Given the description of an element on the screen output the (x, y) to click on. 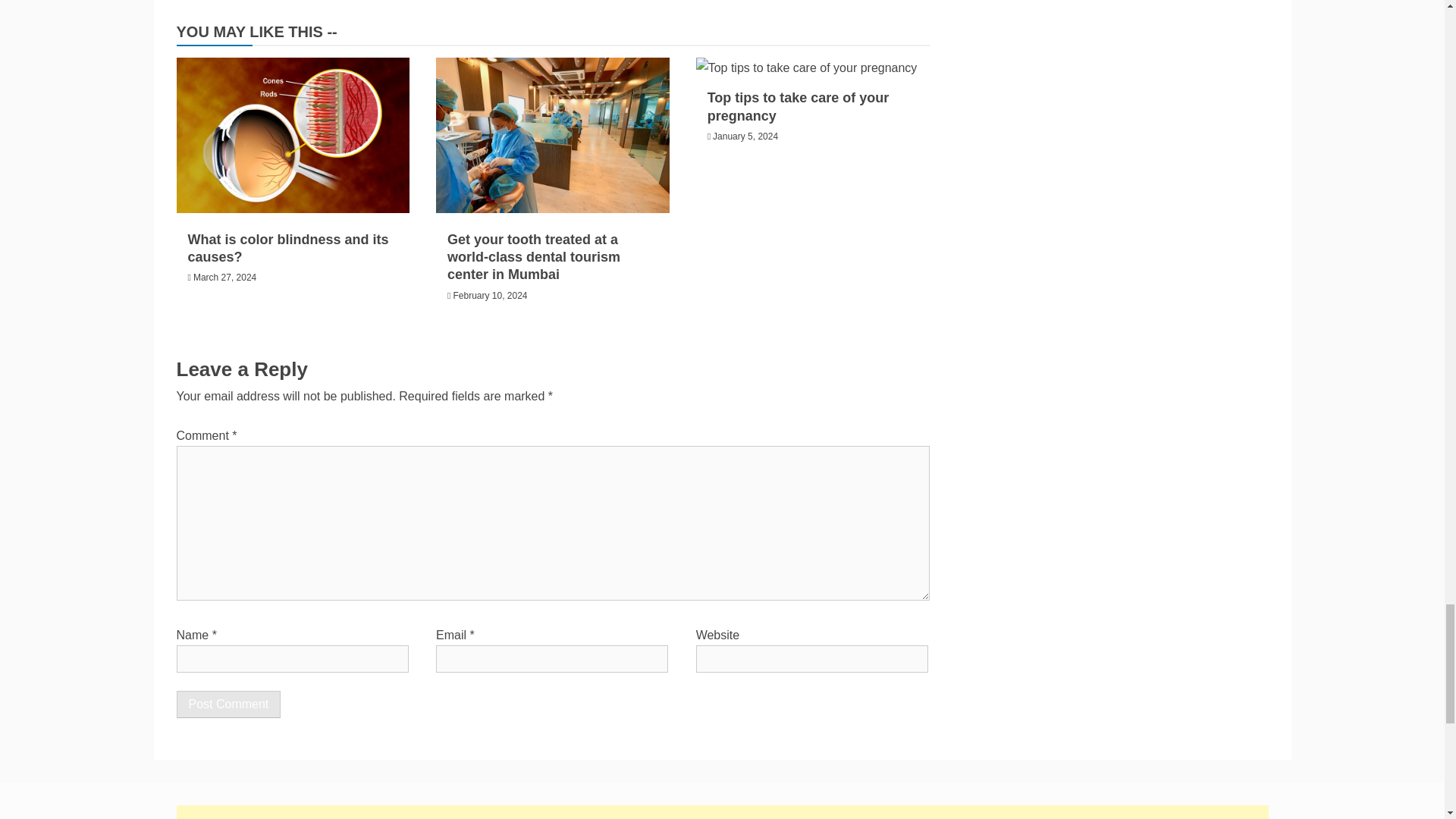
Post Comment (228, 704)
